Given the description of an element on the screen output the (x, y) to click on. 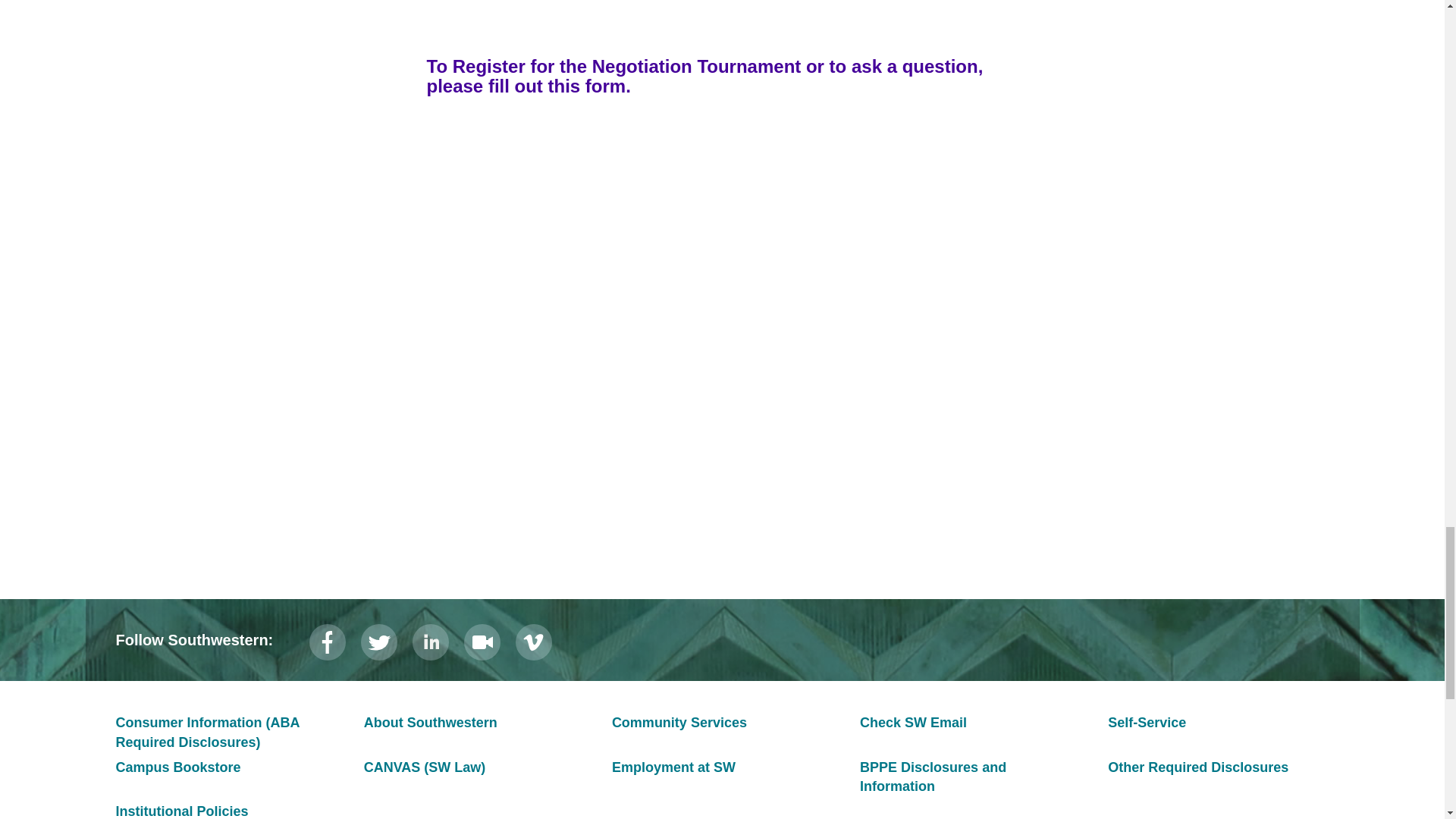
On-Campus Bookstore is in Westmoreland basement (177, 767)
